Given the description of an element on the screen output the (x, y) to click on. 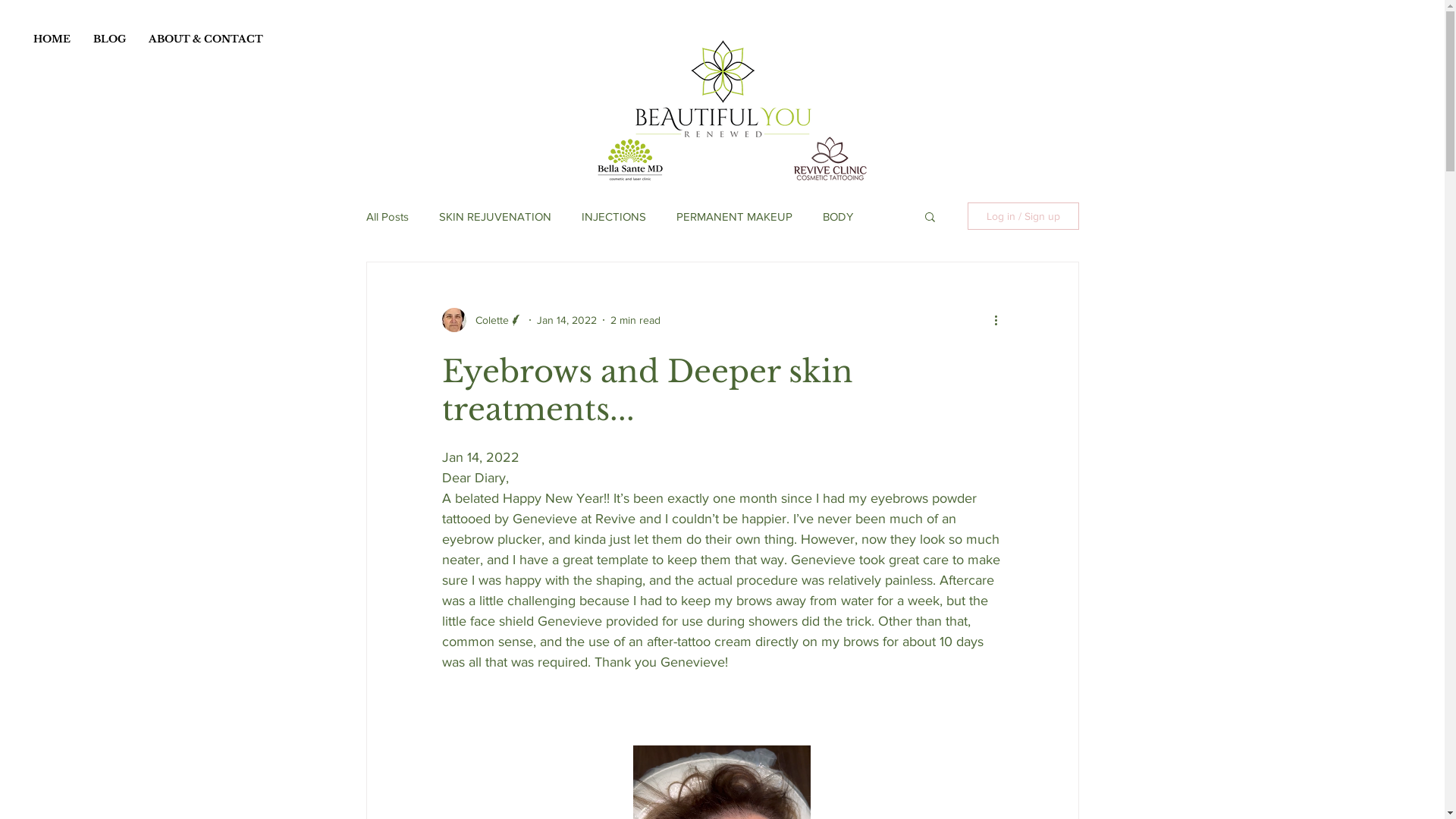
EXPERT cosmetic tattooing. Element type: hover (830, 159)
HOME Element type: text (51, 39)
A beautiful collaboration... Element type: hover (723, 88)
ABOUT & CONTACT Element type: text (205, 39)
BODY Element type: text (837, 215)
All Posts Element type: text (386, 215)
SKIN REJUVENATION Element type: text (494, 215)
Log in / Sign up Element type: text (1023, 215)
BLOG Element type: text (109, 39)
PERMANENT MAKEUP Element type: text (734, 215)
Saskatoons go-to medical spa. Element type: hover (629, 159)
INJECTIONS Element type: text (612, 215)
